Given the description of an element on the screen output the (x, y) to click on. 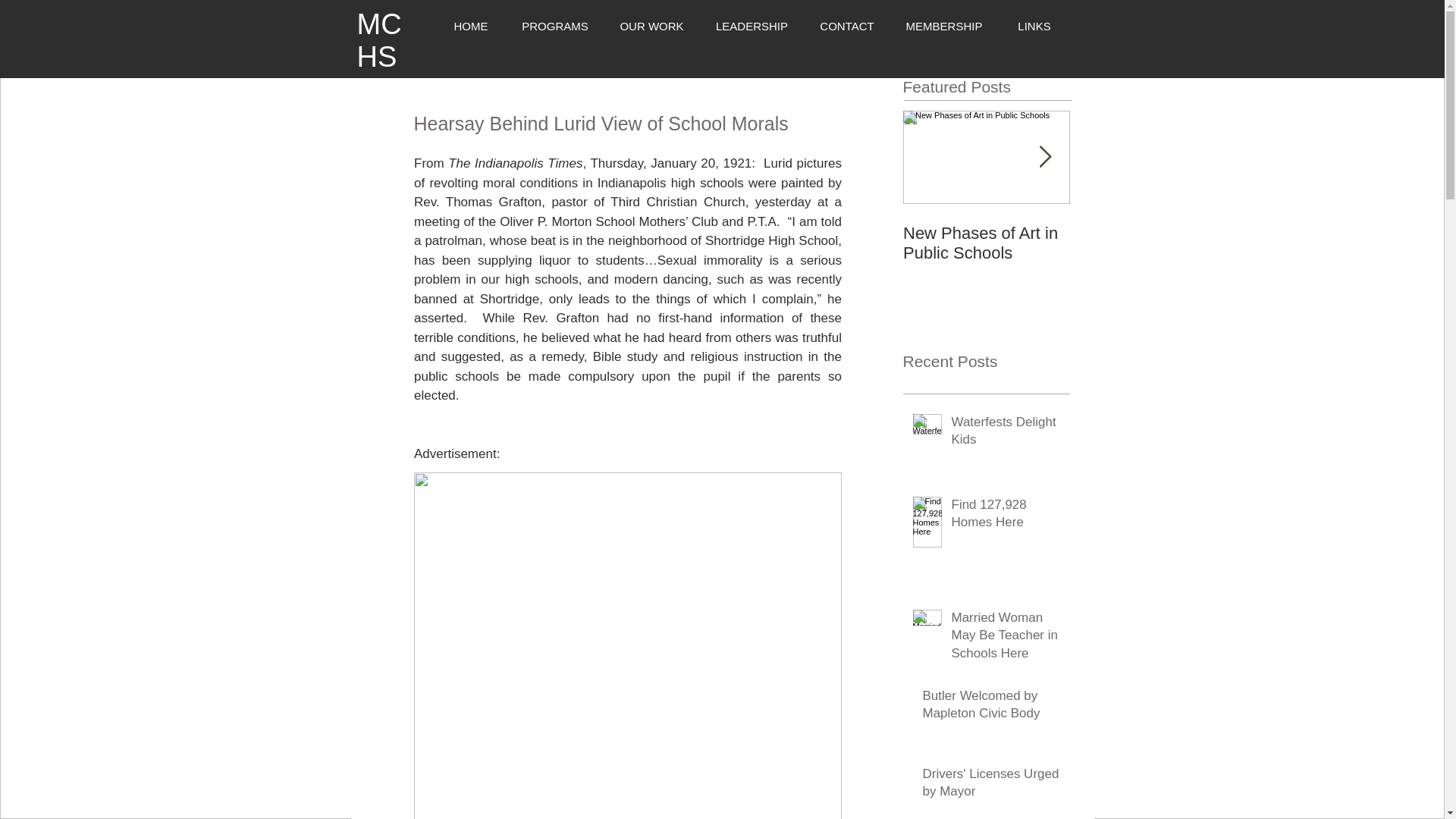
Butler Welcomed by Mapleton Civic Body (990, 708)
Married Woman May Be Teacher in Schools Here (1004, 639)
New Phases of Art in Public Schools (985, 242)
PROGRAMS (555, 26)
Indianapolis Sets New Joy Record (1152, 242)
Drivers' Licenses Urged by Mayor (990, 785)
MEMBERSHIP (943, 26)
LEADERSHIP (750, 26)
Waterfests Delight Kids (1004, 434)
LINKS (1033, 26)
